Given the description of an element on the screen output the (x, y) to click on. 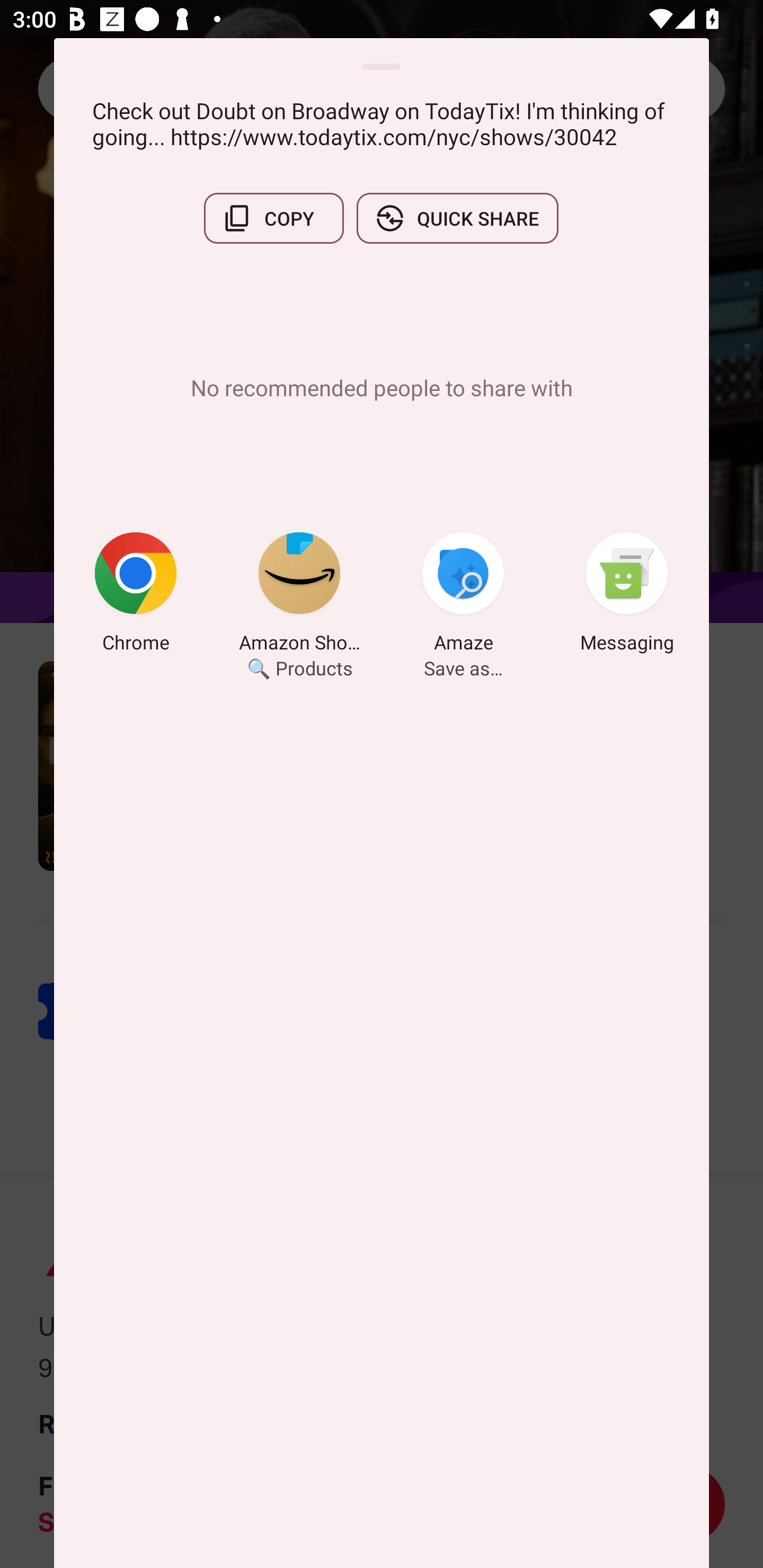
COPY (273, 218)
QUICK SHARE (457, 218)
Chrome (135, 594)
Amazon Shopping 🔍 Products (299, 594)
Amaze Save as… (463, 594)
Messaging (626, 594)
